Given the description of an element on the screen output the (x, y) to click on. 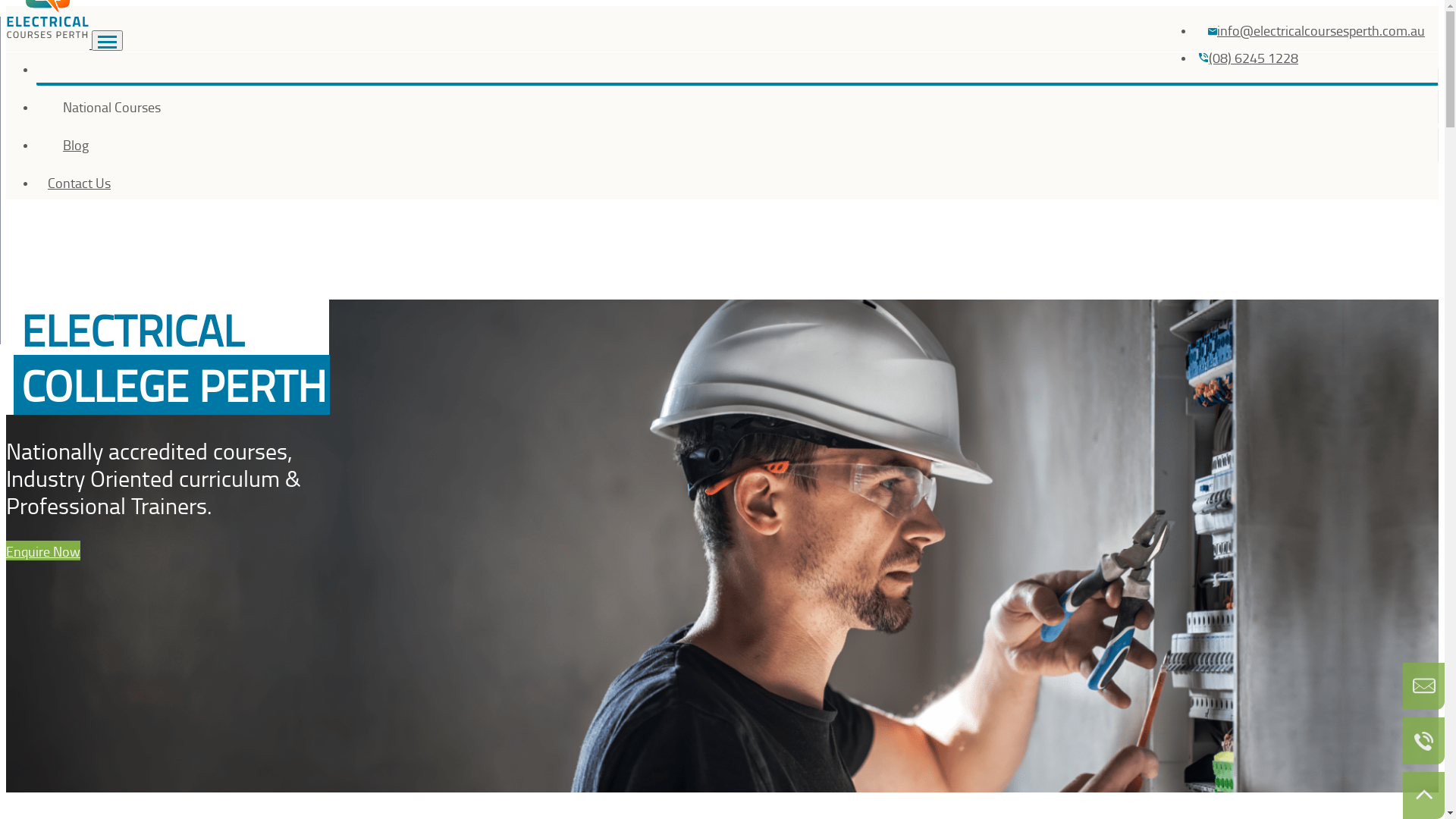
Call Us Now Element type: text (1423, 740)
(08) 6245 1228 Element type: text (1248, 57)
Enquire Now Element type: text (43, 550)
National Courses Element type: text (737, 106)
Inquire Now Element type: text (1423, 685)
info@electricalcoursesperth.com.au Element type: text (1316, 29)
Blog Element type: text (737, 144)
Contact Us Element type: text (737, 182)
